Given the description of an element on the screen output the (x, y) to click on. 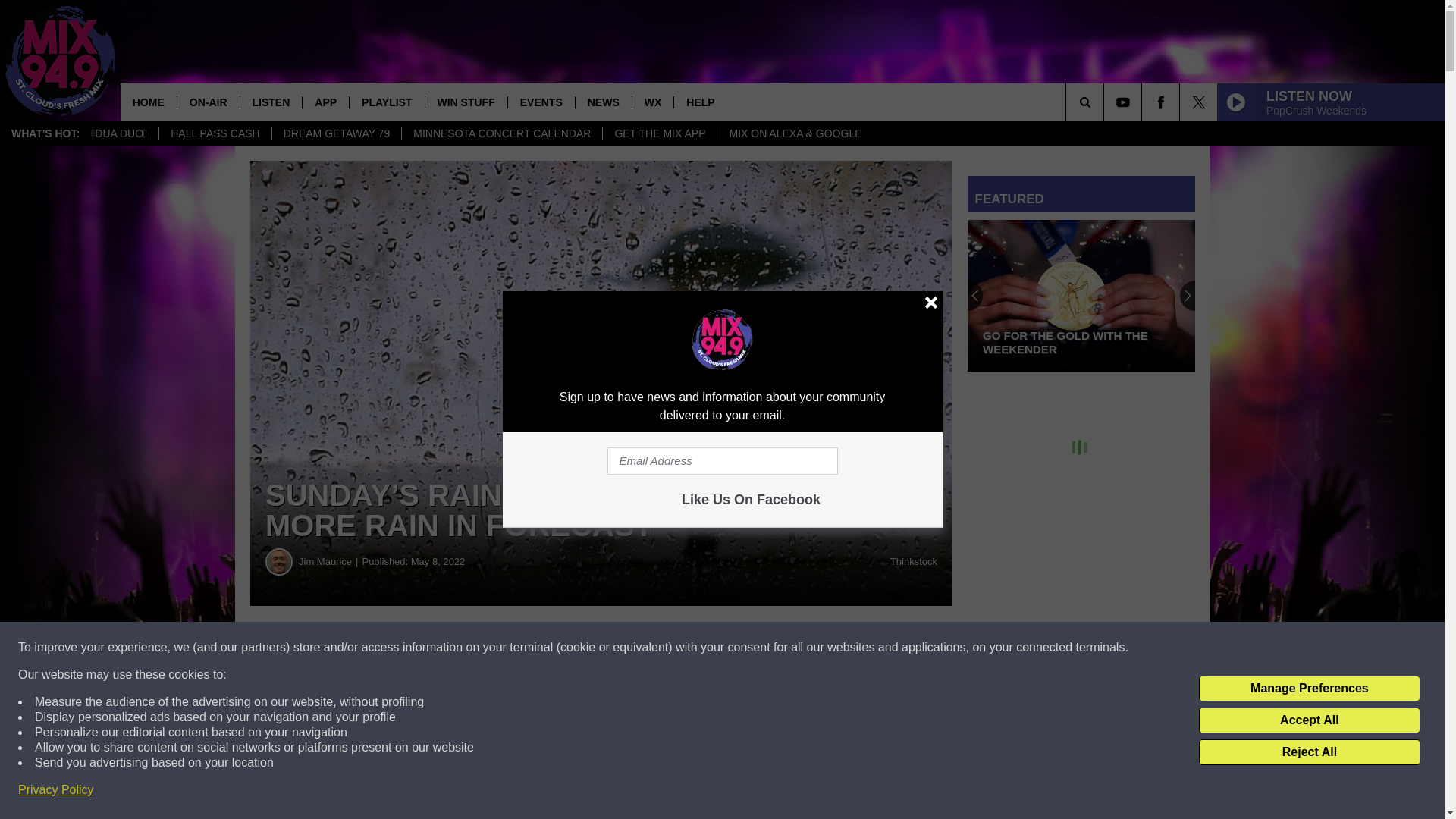
Email Address (722, 461)
SEARCH (1106, 102)
WIN STUFF (465, 102)
Share on Facebook (460, 647)
DREAM GETAWAY 79 (335, 133)
HALL PASS CASH (214, 133)
MINNESOTA CONCERT CALENDAR (501, 133)
Privacy Policy (55, 789)
HOME (148, 102)
Reject All (1309, 751)
APP (325, 102)
SEARCH (1106, 102)
Share on Twitter (741, 647)
PLAYLIST (386, 102)
Manage Preferences (1309, 688)
